Given the description of an element on the screen output the (x, y) to click on. 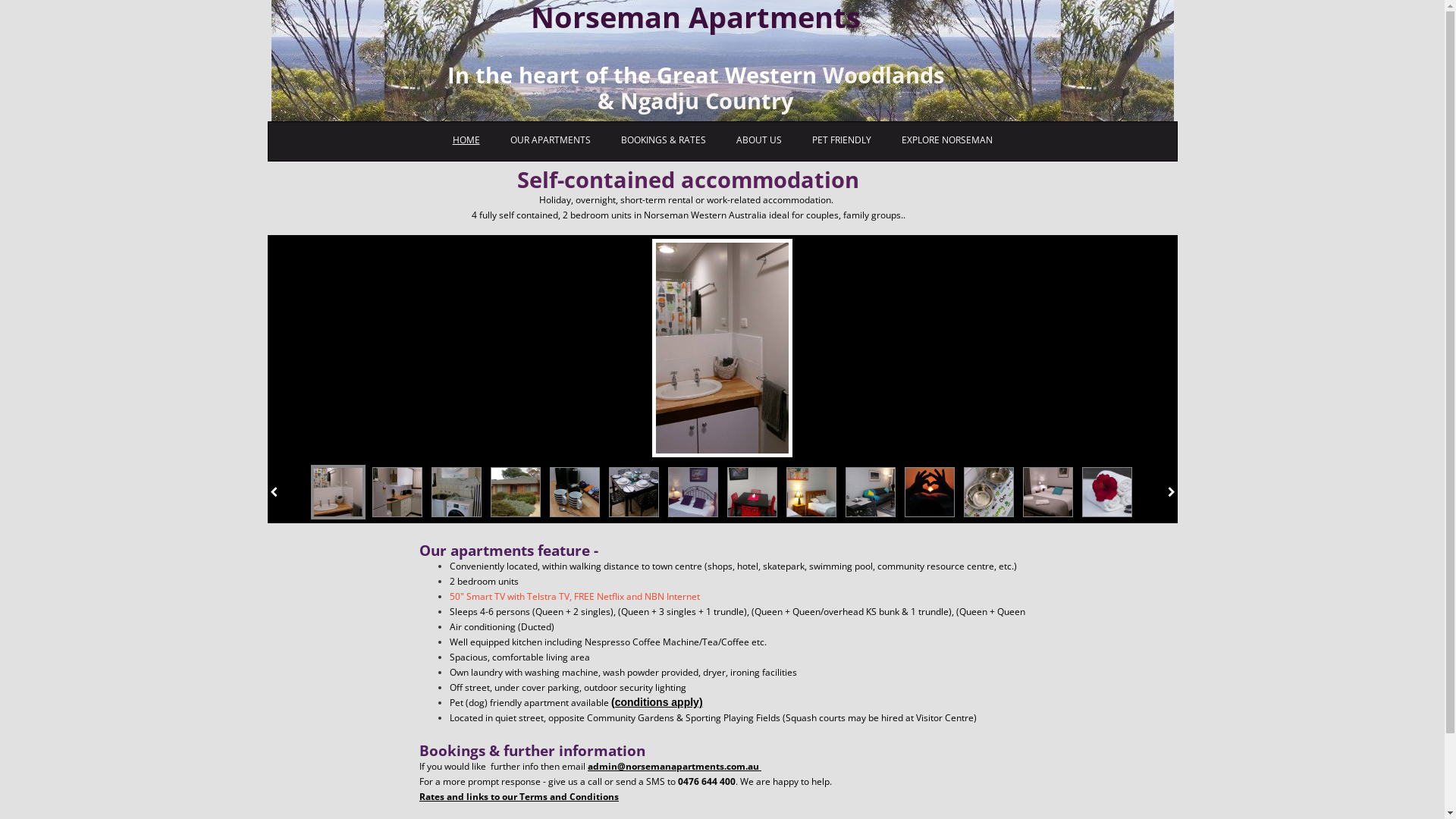
admin@norsemanapartments.com.au Element type: text (674, 765)
PET FRIENDLY Element type: text (840, 141)
ABOUT US Element type: text (758, 141)
Rates and links to our Terms and Conditions Element type: text (518, 796)
BOOKINGS & RATES Element type: text (662, 141)
OUR APARTMENTS Element type: text (549, 141)
(conditions apply) Element type: text (656, 702)
HOME Element type: text (465, 141)
EXPLORE NORSEMAN Element type: text (946, 141)
